Given the description of an element on the screen output the (x, y) to click on. 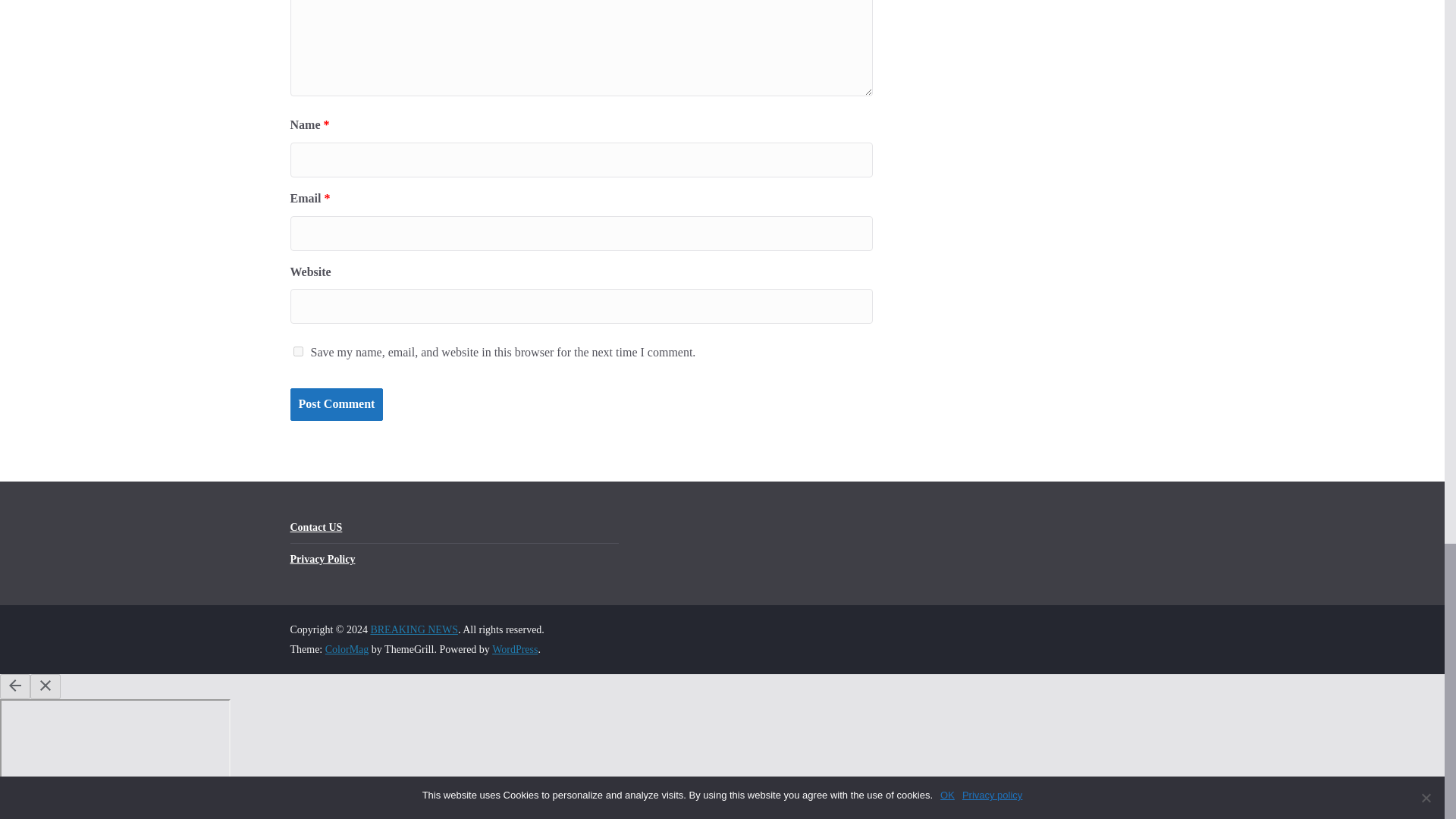
yes (297, 351)
Post Comment (335, 404)
Contact US (315, 527)
ColorMag (346, 649)
Privacy Policy (322, 559)
BREAKING NEWS (413, 629)
Post Comment (335, 404)
